Given the description of an element on the screen output the (x, y) to click on. 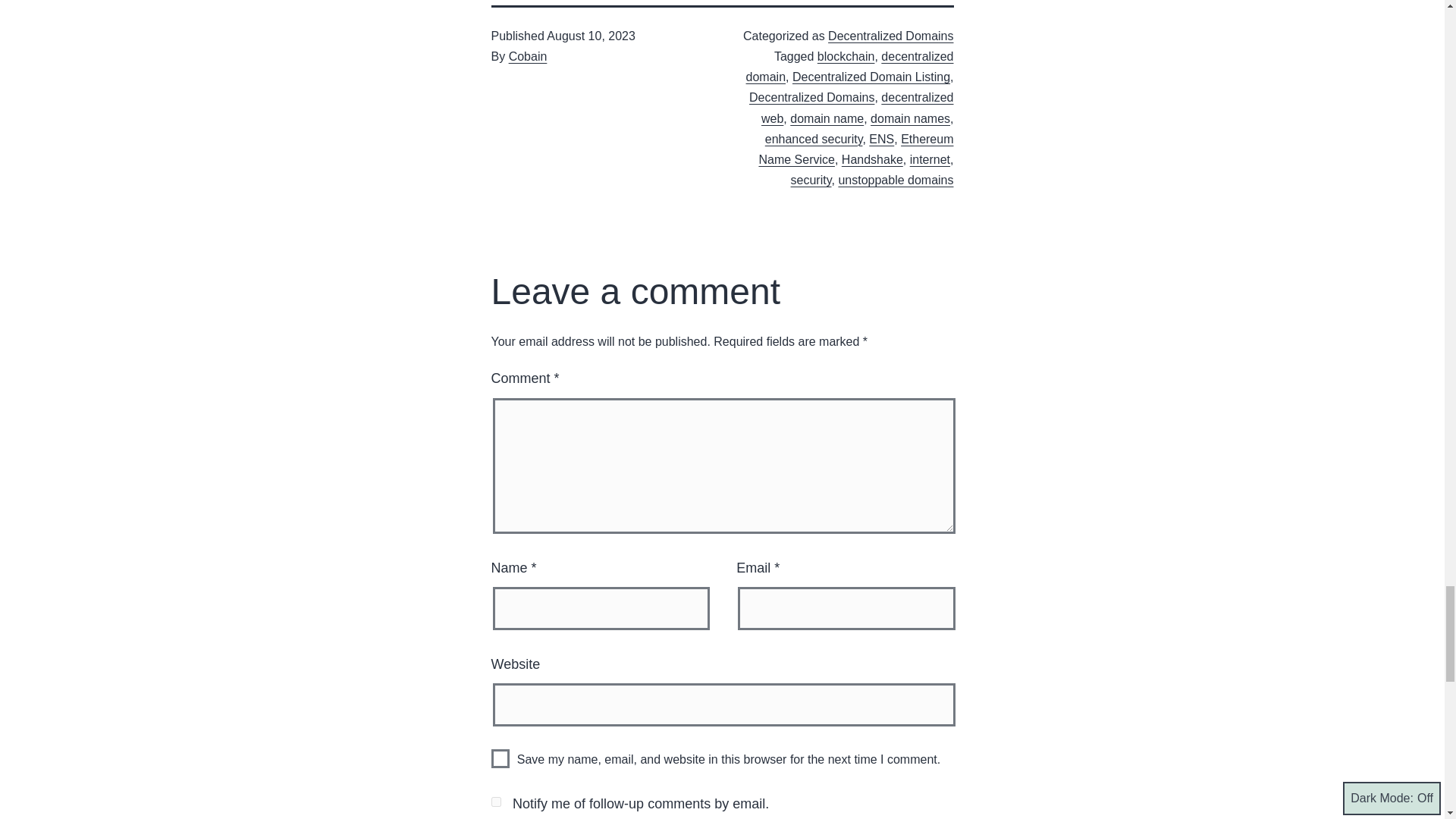
blockchain (845, 56)
Decentralized Domain Listing (871, 76)
Handshake (871, 159)
Cobain (527, 56)
yes (500, 758)
Ethereum Name Service (855, 149)
decentralized domain (849, 66)
internet (930, 159)
decentralized web (857, 107)
Decentralized Domains (812, 97)
